Given the description of an element on the screen output the (x, y) to click on. 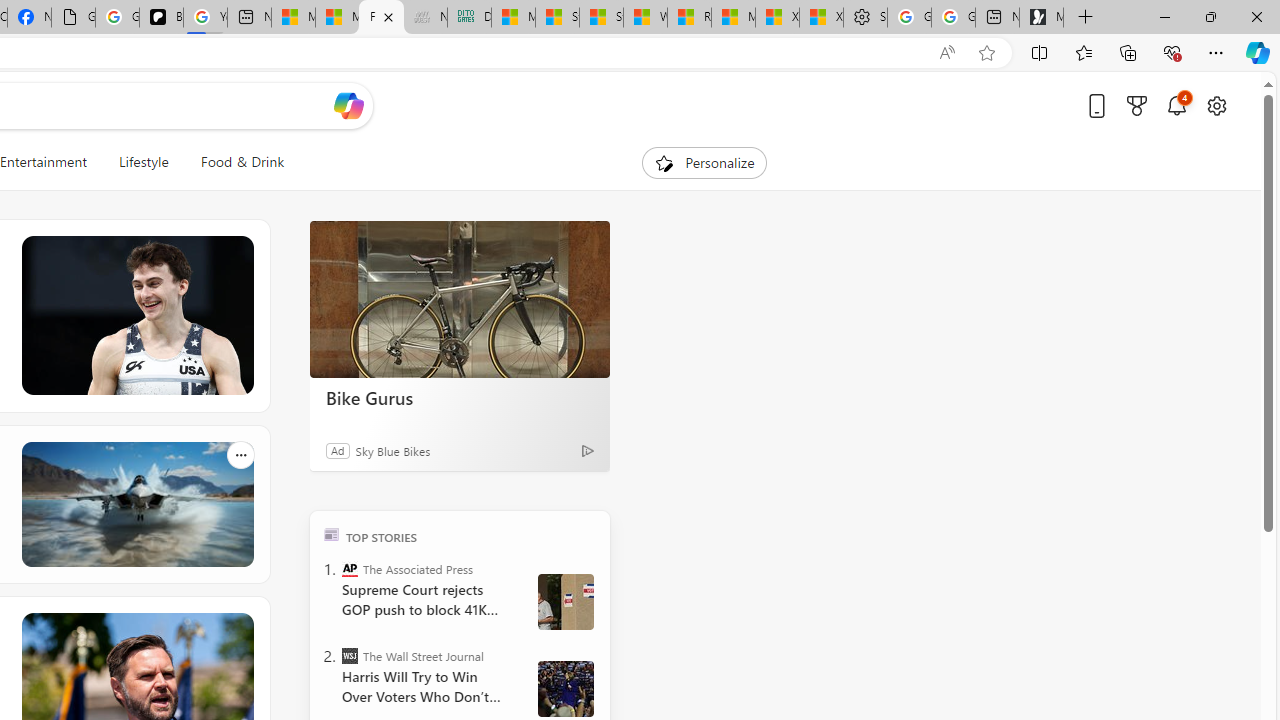
Google Analytics Opt-out Browser Add-on Download Page (73, 17)
Food & Drink (242, 162)
R******* | Trusted Community Engagement and Contributions (689, 17)
Bike Gurus (459, 299)
